Given the description of an element on the screen output the (x, y) to click on. 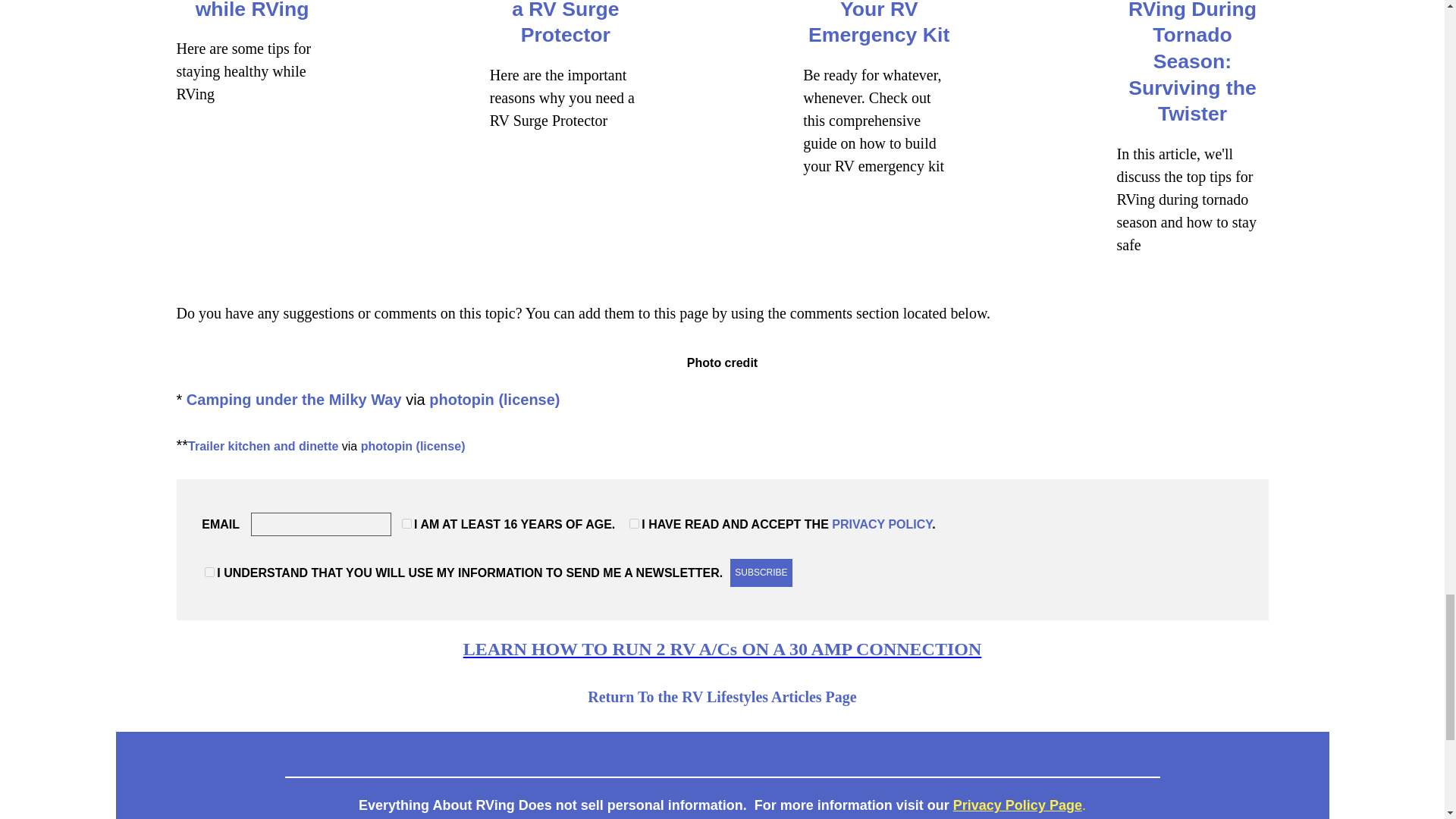
on (633, 523)
on (406, 523)
on (209, 572)
